Given the description of an element on the screen output the (x, y) to click on. 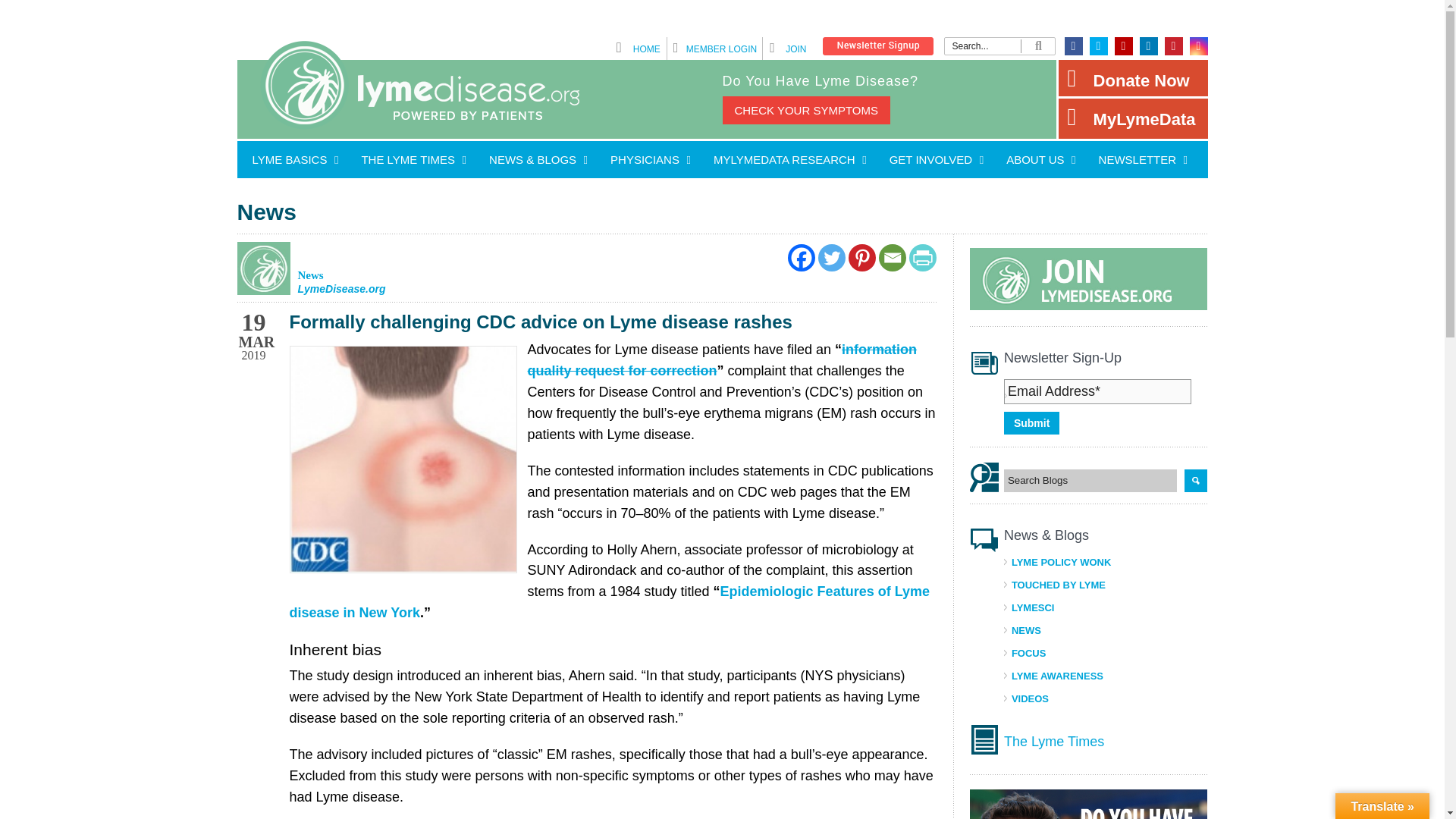
Signup for LymeDisease.org Newsletter (877, 51)
CHECK YOUR SYMPTOMS (805, 110)
MyLymeData (1133, 117)
Submit (1031, 422)
Find us on Instagram (1198, 45)
Find us on Facebook (1073, 45)
LYME BASICS (290, 159)
Find us on LinkedIn (1147, 45)
Donate Now! (1133, 77)
Follow us on Twitter (1097, 45)
Find us on Pinterest (1173, 45)
HOME (647, 49)
Donate Now (1133, 77)
Check out our YouTube Channel (1123, 45)
MEMBER LOGIN (721, 49)
